Given the description of an element on the screen output the (x, y) to click on. 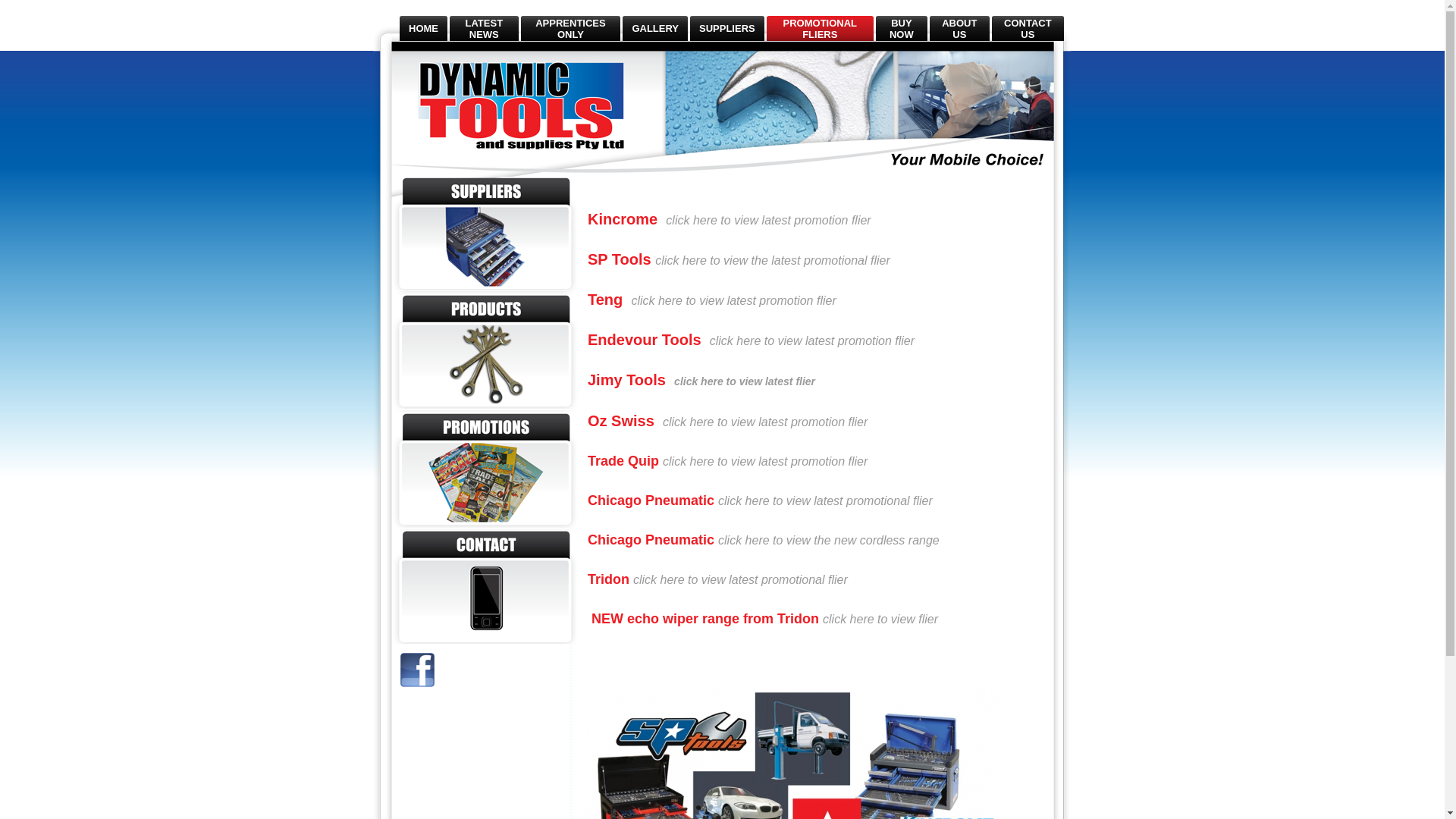
GALLERY Element type: text (654, 28)
APPRENTICES ONLY Element type: text (570, 27)
click here to view latest promotional flier Element type: text (740, 580)
click here to view the new cordless range Element type: text (828, 540)
BUY NOW Element type: text (901, 27)
click here to view latest flier Element type: text (744, 381)
LATEST NEWS Element type: text (483, 27)
ABOUT US Element type: text (958, 27)
click here to view latest promotion flier Element type: text (732, 301)
click here to view latest promotion flier Element type: text (764, 422)
HOME Element type: text (423, 28)
CONTACT US Element type: text (1027, 27)
click here to view latest promotion flier Element type: text (767, 220)
click here to view the latest promotional flier Element type: text (772, 260)
click here to view latest promotional flier Element type: text (825, 501)
click here to view flier Element type: text (880, 619)
SUPPLIERS Element type: text (727, 28)
click here to view latest promotion flier Element type: text (811, 340)
PROMOTIONAL FLIERS Element type: text (820, 27)
click here to view latest promotion flier Element type: text (764, 461)
